Given the description of an element on the screen output the (x, y) to click on. 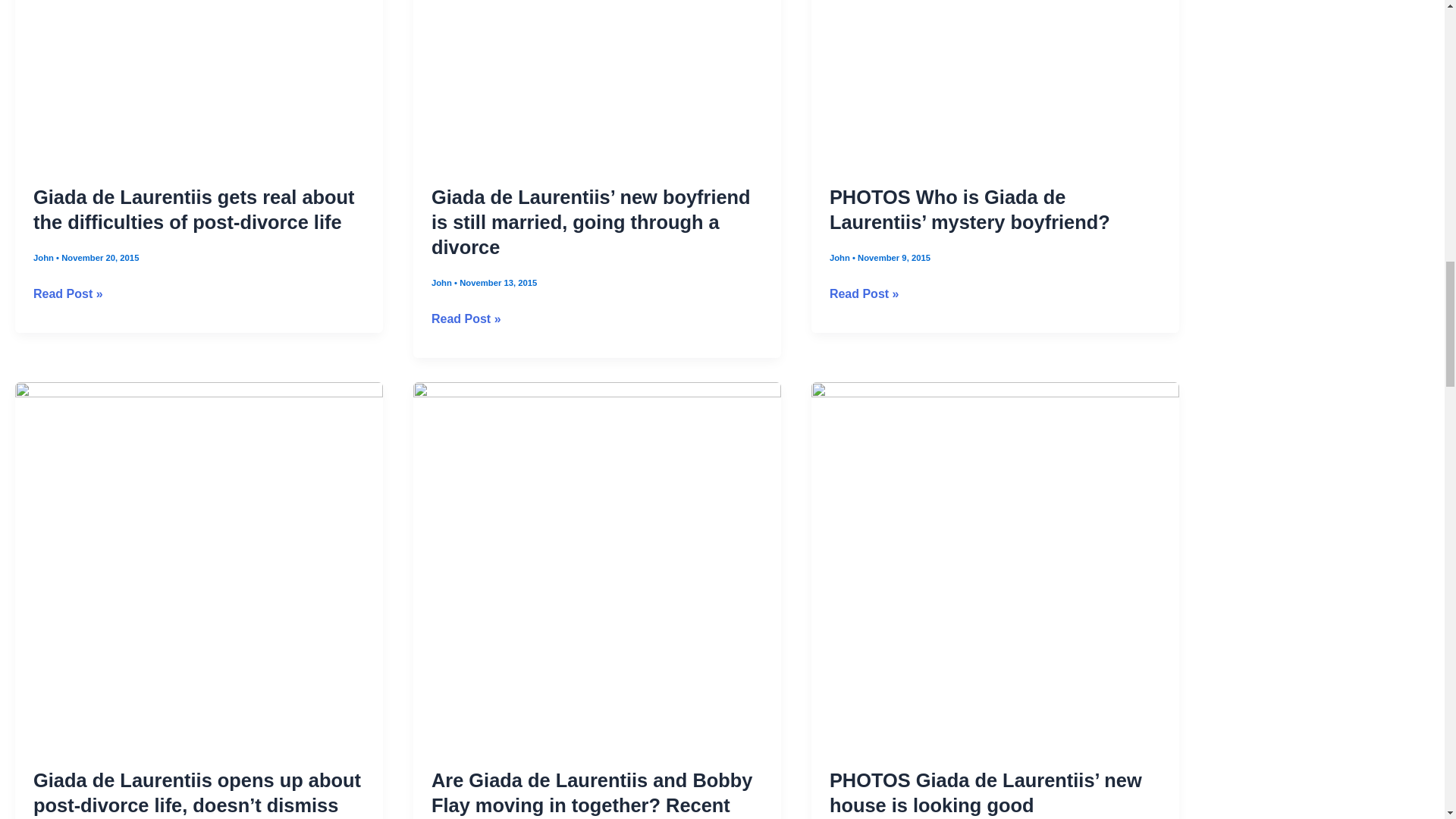
View all posts by John (44, 257)
View all posts by John (840, 257)
View all posts by John (442, 282)
